Given the description of an element on the screen output the (x, y) to click on. 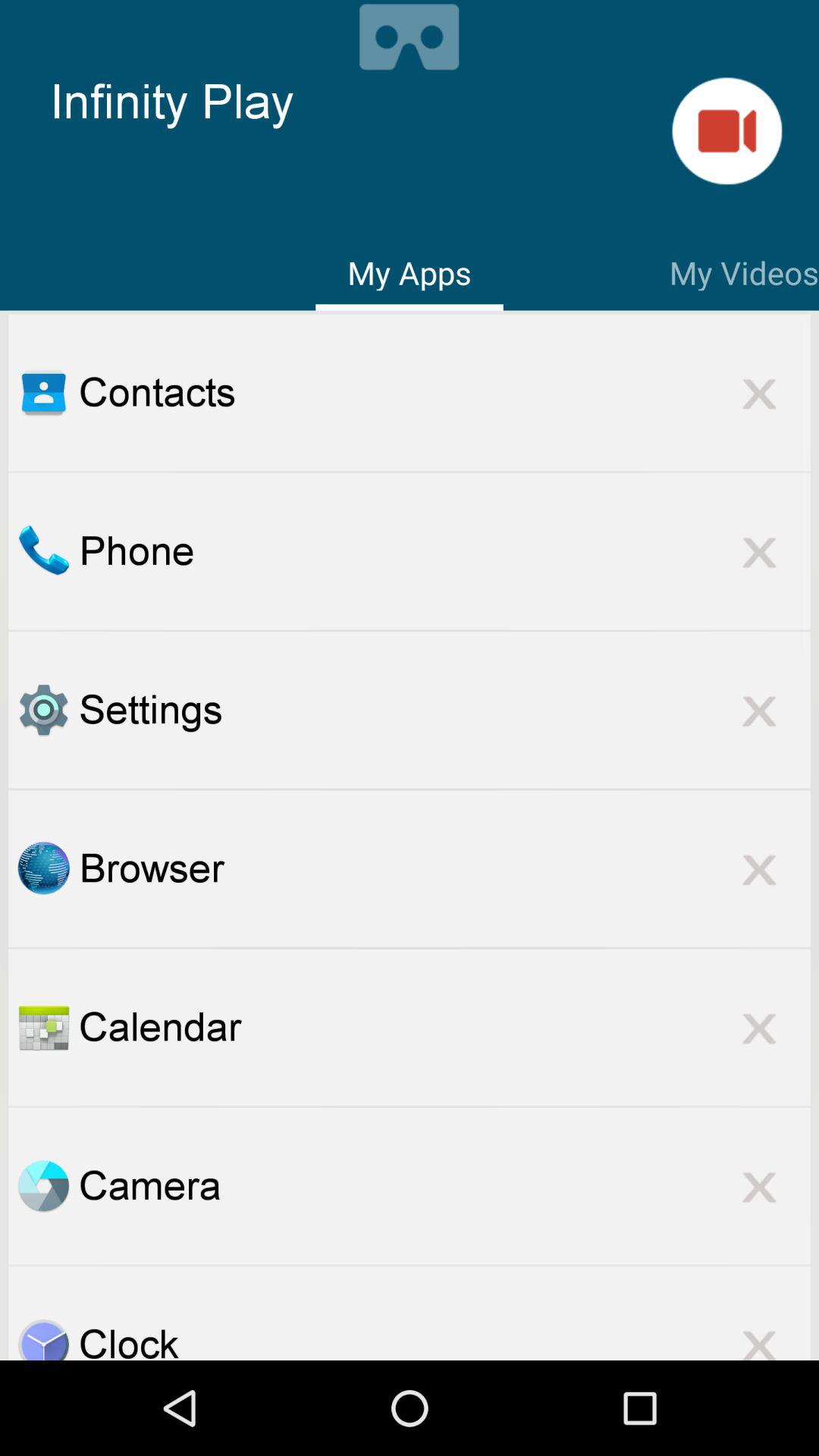
go to closed (759, 1027)
